Given the description of an element on the screen output the (x, y) to click on. 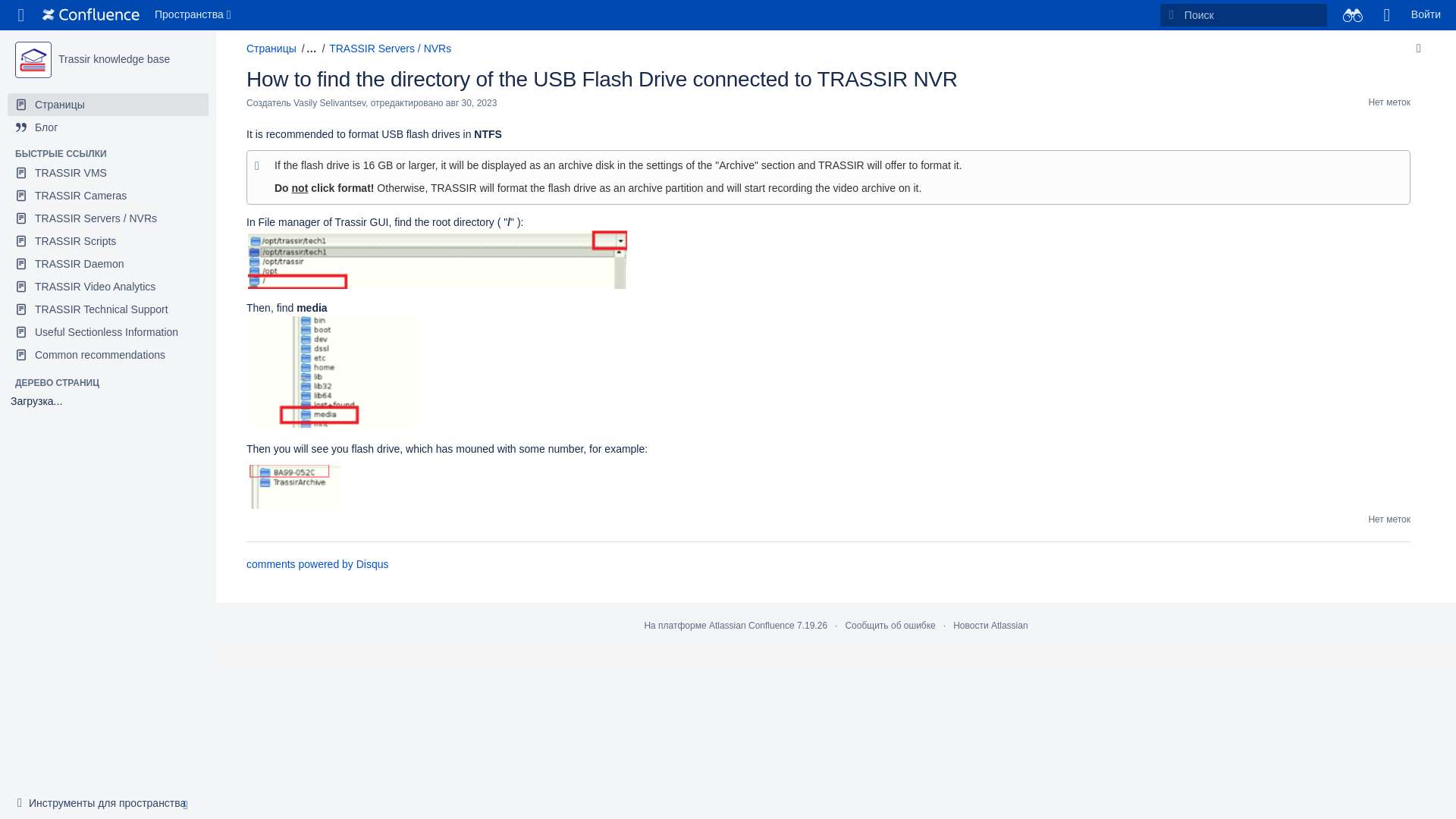
Trassir knowledge base (114, 59)
TRASSIR Daemon (107, 263)
Trassir knowledge base (114, 59)
TRASSIR VMS (107, 172)
Common recommendations (107, 354)
ScriptRunner Enhanced Search (1352, 15)
TRASSIR Technical Support (107, 309)
TRASSIR Scripts (107, 241)
Trassir knowledge base (32, 59)
TRASSIR Cameras (107, 195)
